Given the description of an element on the screen output the (x, y) to click on. 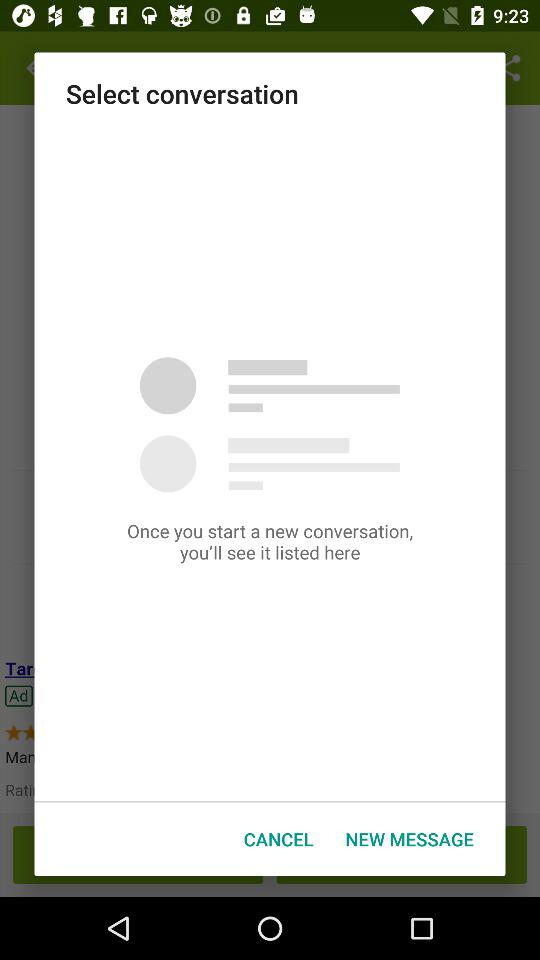
jump until the new message (409, 838)
